Given the description of an element on the screen output the (x, y) to click on. 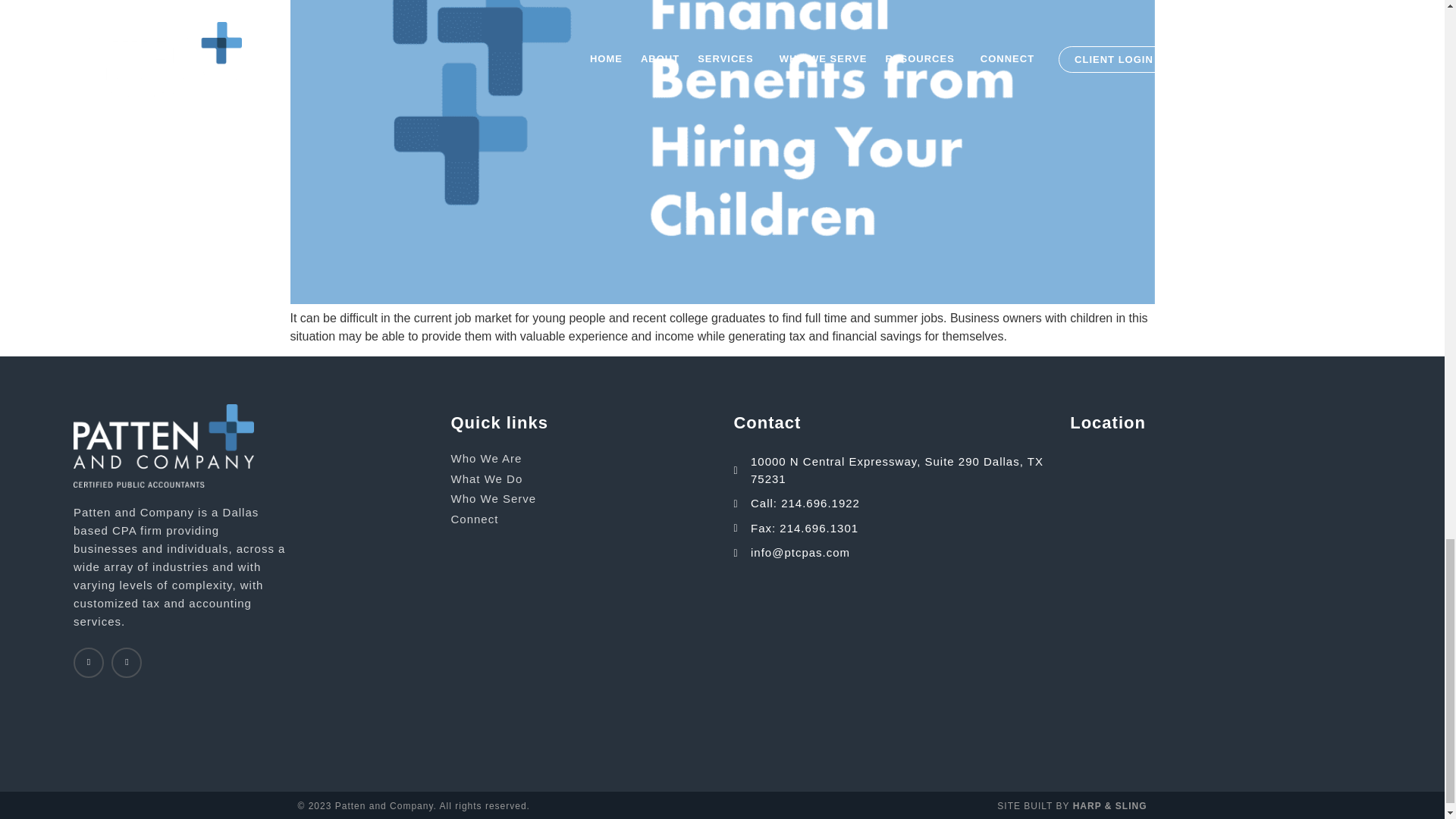
10000 N Central Expressway, Suite 290 Dallas, TX 75231 (1220, 527)
